Given the description of an element on the screen output the (x, y) to click on. 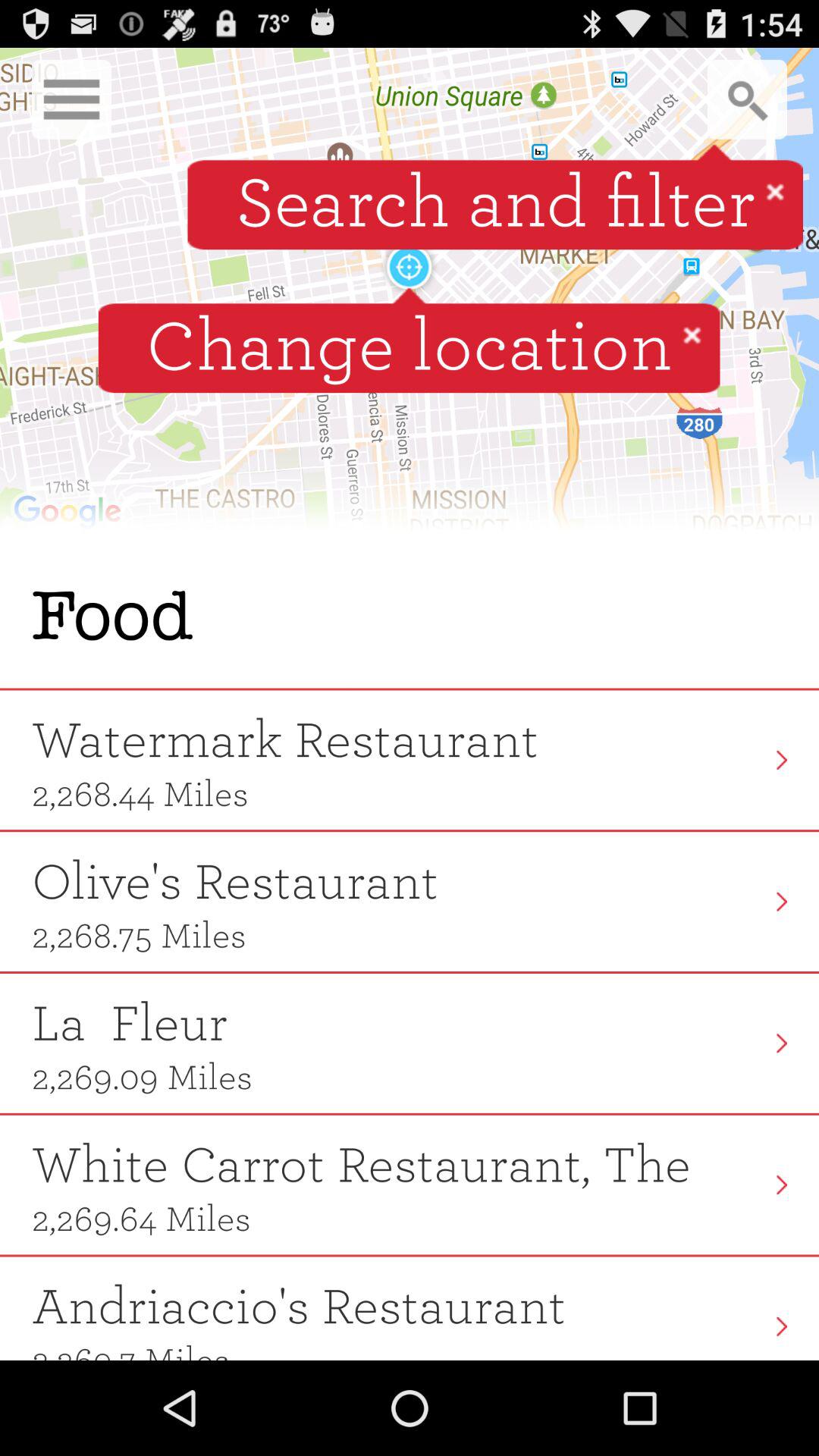
open the app above the food item (409, 296)
